Given the description of an element on the screen output the (x, y) to click on. 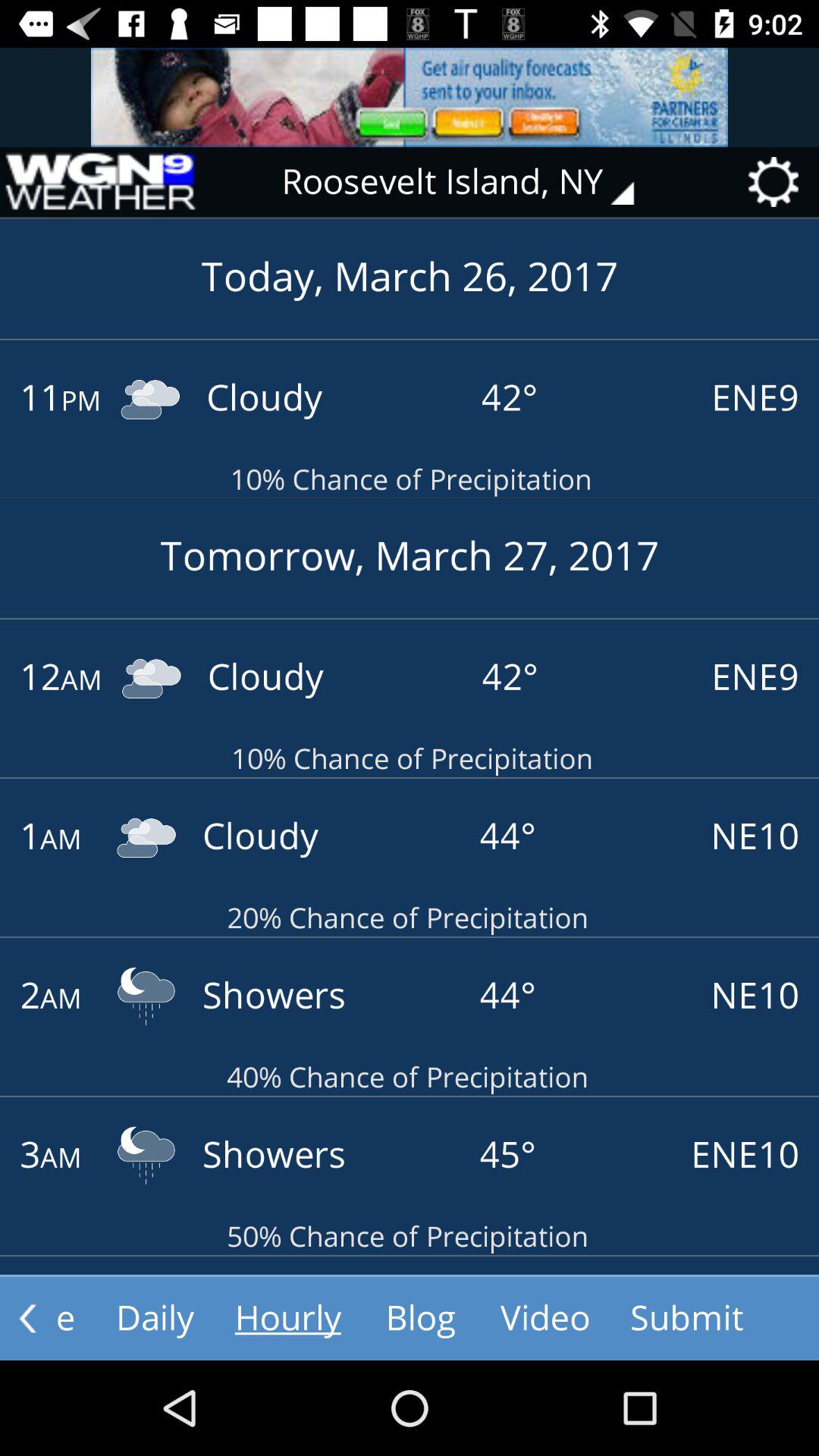
open advertisement (409, 97)
